Given the description of an element on the screen output the (x, y) to click on. 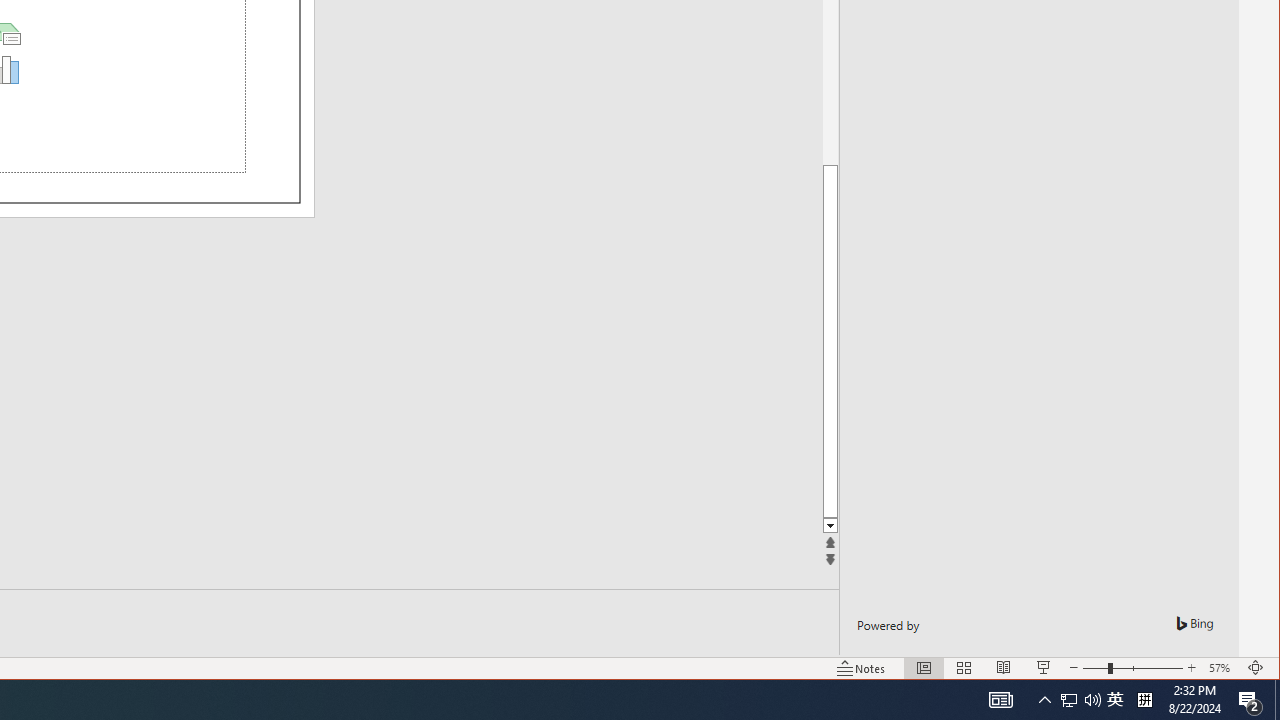
Zoom 57% (1222, 668)
